Given the description of an element on the screen output the (x, y) to click on. 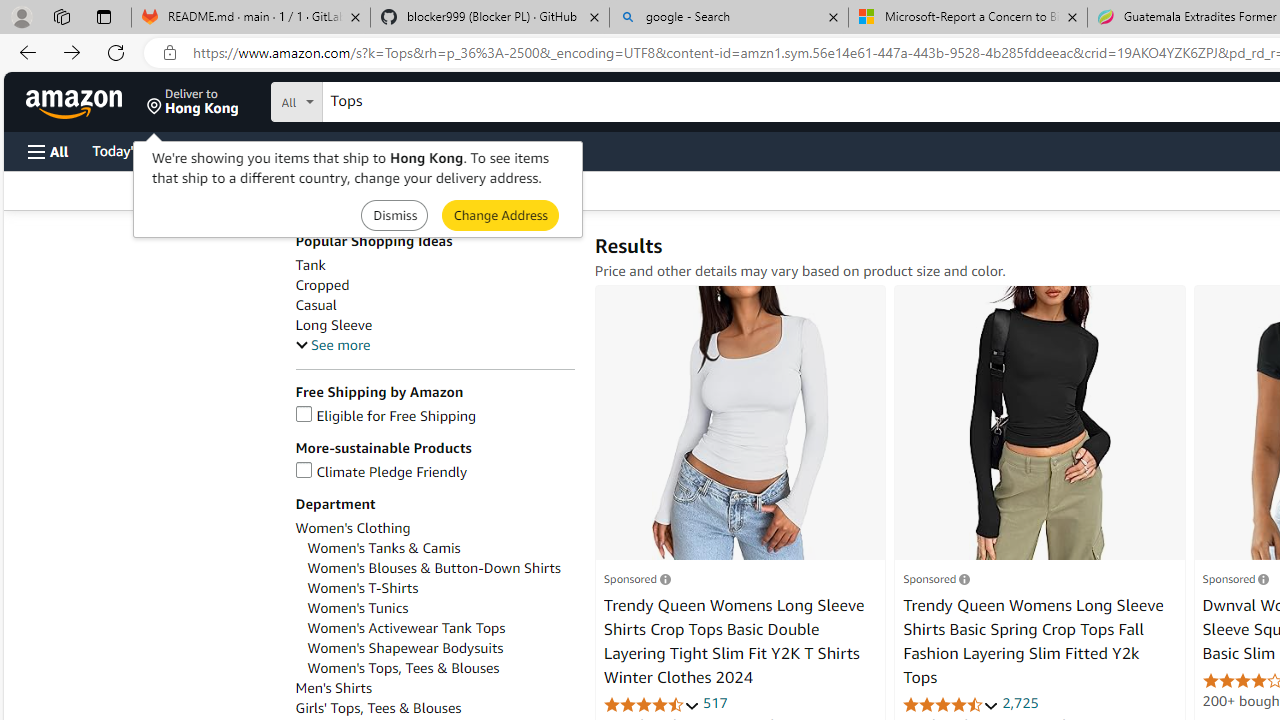
Women's Activewear Tank Tops (440, 628)
Registry (360, 150)
Men's Shirts (434, 687)
Women's Blouses & Button-Down Shirts (433, 568)
Women's Shapewear Bodysuits (405, 648)
Search in (371, 99)
